Given the description of an element on the screen output the (x, y) to click on. 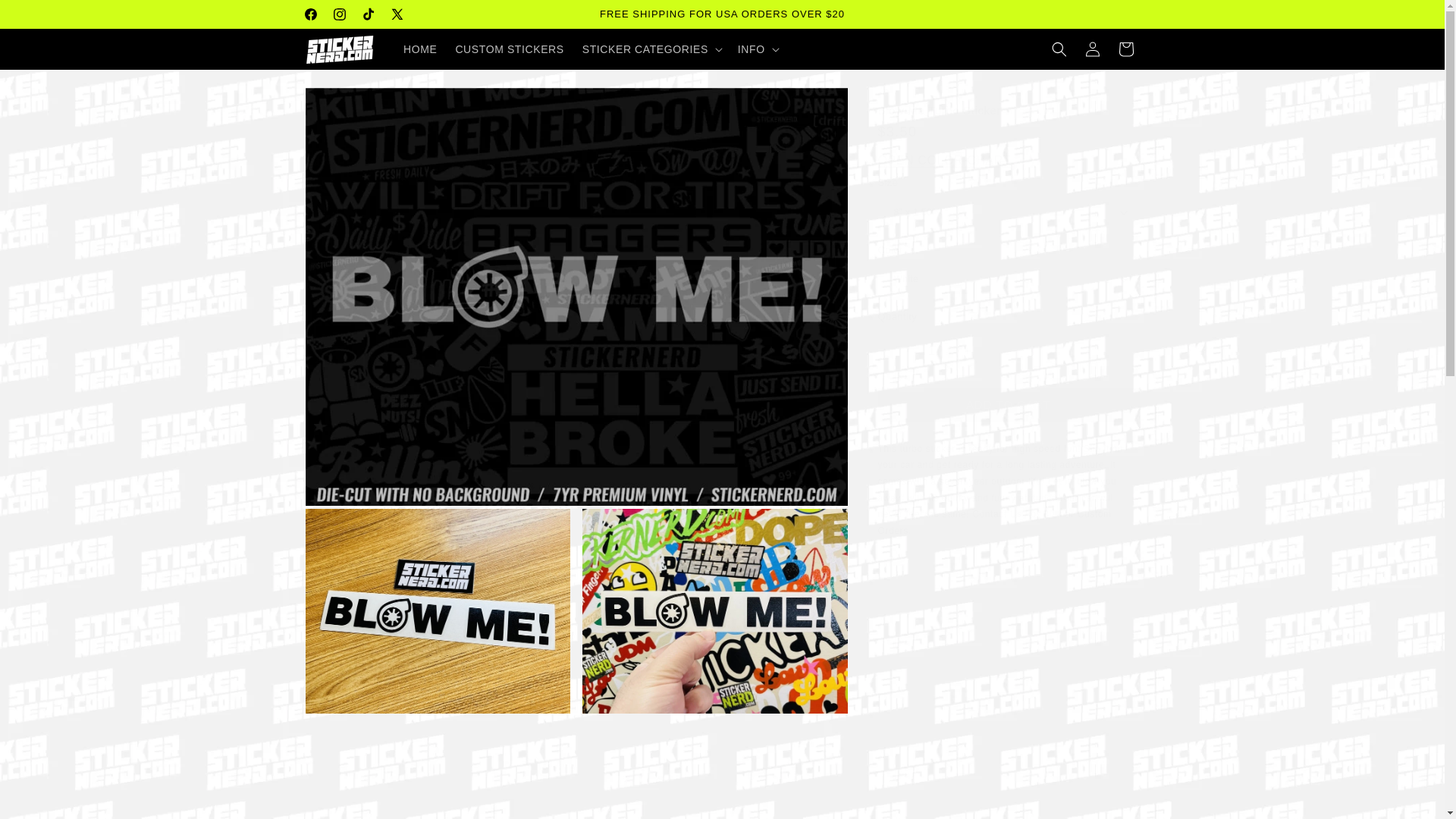
0 (437, 610)
Skip To Content (45, 16)
COLOR CHART (944, 159)
0 (721, 793)
Facebook (309, 14)
1 (931, 351)
Instagram (338, 14)
0 (714, 610)
TikTok (367, 14)
